Given the description of an element on the screen output the (x, y) to click on. 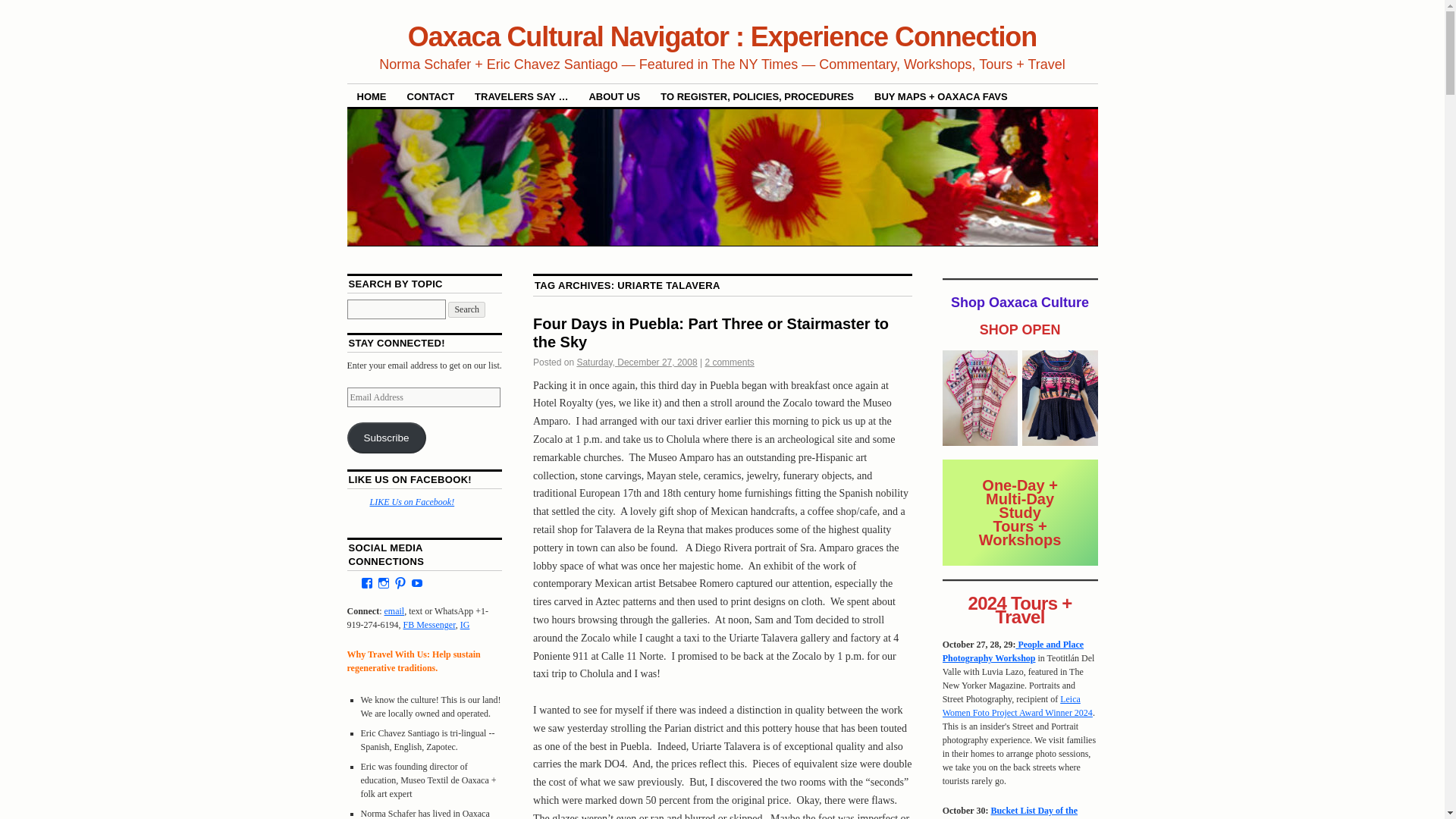
TO REGISTER, POLICIES, PROCEDURES (756, 96)
Four Days in Puebla: Part Three or Stairmaster to the Sky (710, 332)
Oaxaca Cultural Navigator : Experience Connection (721, 36)
Subscribe (386, 437)
2 comments (729, 362)
Search (466, 309)
9:59 pm (636, 362)
ABOUT US (613, 96)
Saturday, December 27, 2008 (636, 362)
Search (466, 309)
CONTACT (430, 96)
HOME (371, 96)
Oaxaca Cultural Navigator : Experience Connection (721, 36)
